Given the description of an element on the screen output the (x, y) to click on. 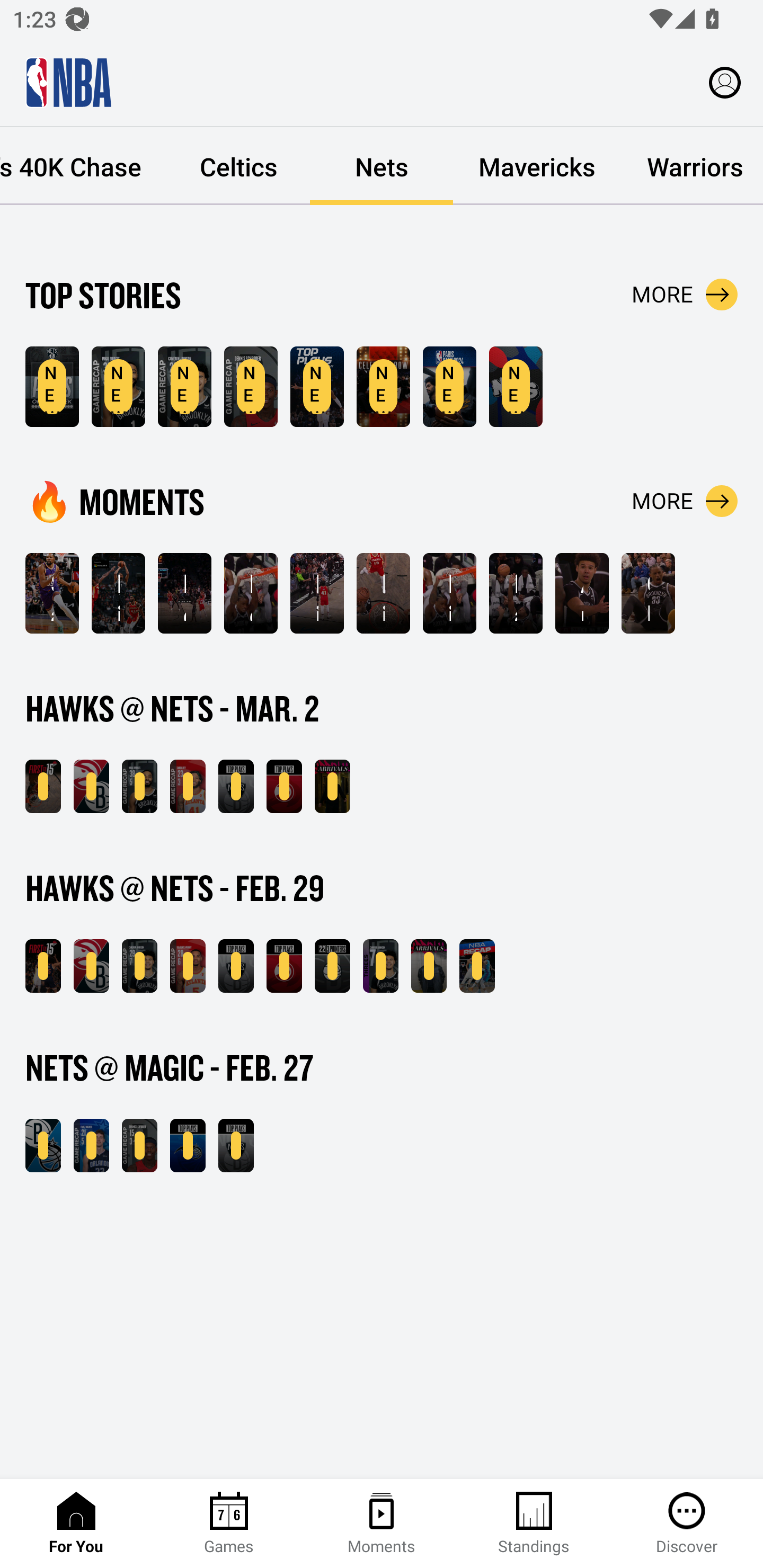
Profile (724, 81)
LeBron’s 40K Chase (83, 166)
Celtics (238, 166)
Mavericks (537, 166)
Warriors (692, 166)
MORE (684, 294)
NEW BKN's Top Plays of Week 19 (51, 386)
NEW Highlights From Mikal Bridges' 38-Point Game (117, 386)
NEW Top Plays From Paris (317, 386)
The Stars Were Out In Paris ⭐ NEW (383, 386)
Cavs And Nets Visit The Eiffel Tower 📷 NEW (449, 386)
Nets' 2023-24 City Edition Jerseys NEW (515, 386)
MORE (684, 500)
Saturday's Top Plays In 30 Seconds ⏱ (51, 593)
Dennis Schroder gets the 3 to fall (184, 593)
Dennis Schroder with the assist (250, 593)
Mikal Bridges with the hoop & harm (317, 593)
Nicolas Claxton throws it down (383, 593)
Nicolas Claxton rises to finish the alley-oop (449, 593)
Day'Ron Sharpe with the swat (515, 593)
And-1 for Cameron Johnson! (581, 593)
Claxton Rises Up For The Block ❌ (648, 593)
NEW First To 15 Mar. 2nd (43, 785)
NEW BKN 114, ATL 102 - Mar 2 (91, 785)
NEW Highlights From Mikal Bridges' 38-Point Game (139, 785)
NEW Highlights From Saddiq Bey's 23-Point Game (187, 785)
NEW BKN's Top Plays from ATL vs. BKN (236, 785)
ATL's Top Plays from ATL vs. BKN NEW (284, 785)
Saturday's Arrivals 🔥 NEW (332, 785)
NEW First To 15: Feb. 29th (43, 965)
NEW BKN 124, ATL 97 - Feb 29 (91, 965)
NEW BKN's Top Plays from ATL vs. BKN (236, 965)
ATL's Top Plays from ATL vs. BKN NEW (284, 965)
All 3's from BKN's 22 3-Pointer Night NEW (332, 965)
Thursday Night's Arrivals 🔥 NEW (428, 965)
Thursday's Recap NEW (477, 965)
NEW ORL 108, BKN 81 - Feb 27 (43, 1145)
NEW Highlights From Franz Wagner's 21-Point Game (91, 1145)
NEW ORL's Top Plays from BKN vs. ORL (187, 1145)
NEW BKN's Top Plays from BKN vs. ORL (236, 1145)
Games (228, 1523)
Moments (381, 1523)
Standings (533, 1523)
Discover (686, 1523)
